Given the description of an element on the screen output the (x, y) to click on. 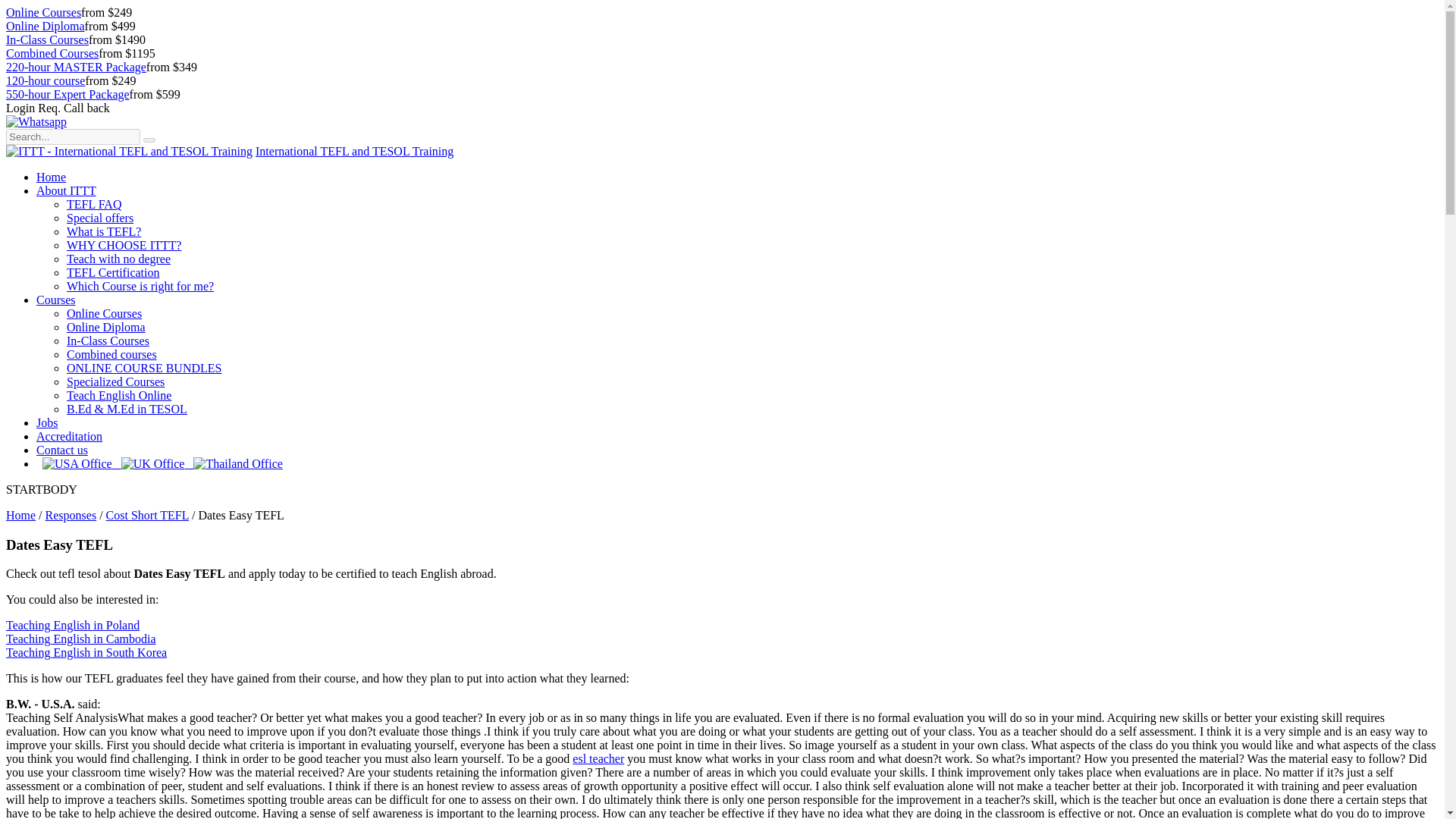
ONLINE COURSE BUNDLES (143, 367)
Home (50, 176)
Accreditation (68, 436)
Online Courses (103, 313)
Teach English Online (118, 395)
Req. Call back (73, 107)
Online Diploma (44, 25)
About ITTT (66, 190)
Online Diploma (105, 327)
Chat with us on Whatsapp (35, 121)
WHY CHOOSE ITTT? (123, 245)
Thailand Office (237, 463)
In-Class Courses (107, 340)
International TEFL and TESOL Training (354, 151)
TEFL FAQ (93, 204)
